Given the description of an element on the screen output the (x, y) to click on. 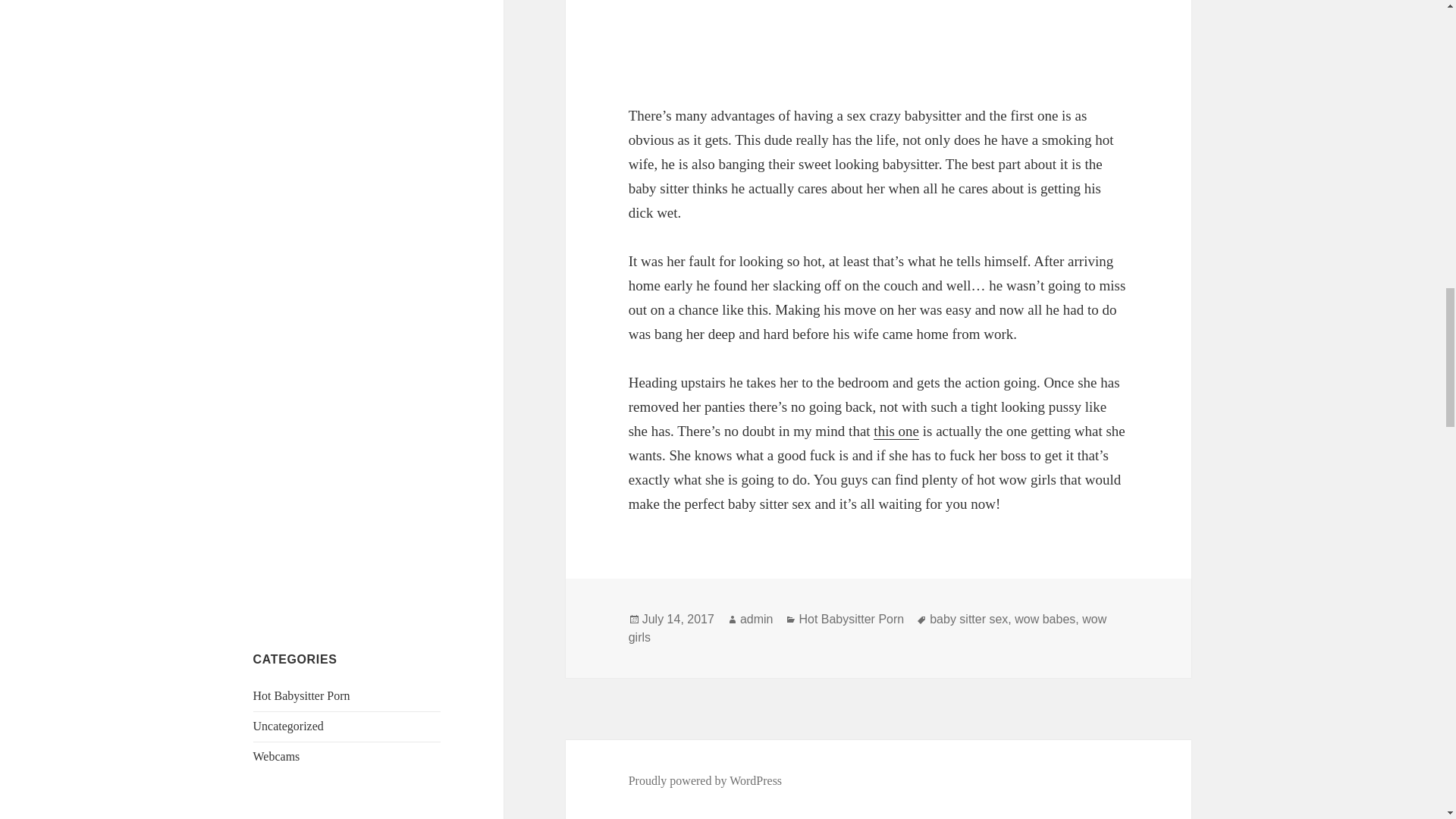
Hot Babysitter Porn (301, 695)
this one (895, 431)
Uncategorized (288, 725)
Webcams (276, 756)
